Given the description of an element on the screen output the (x, y) to click on. 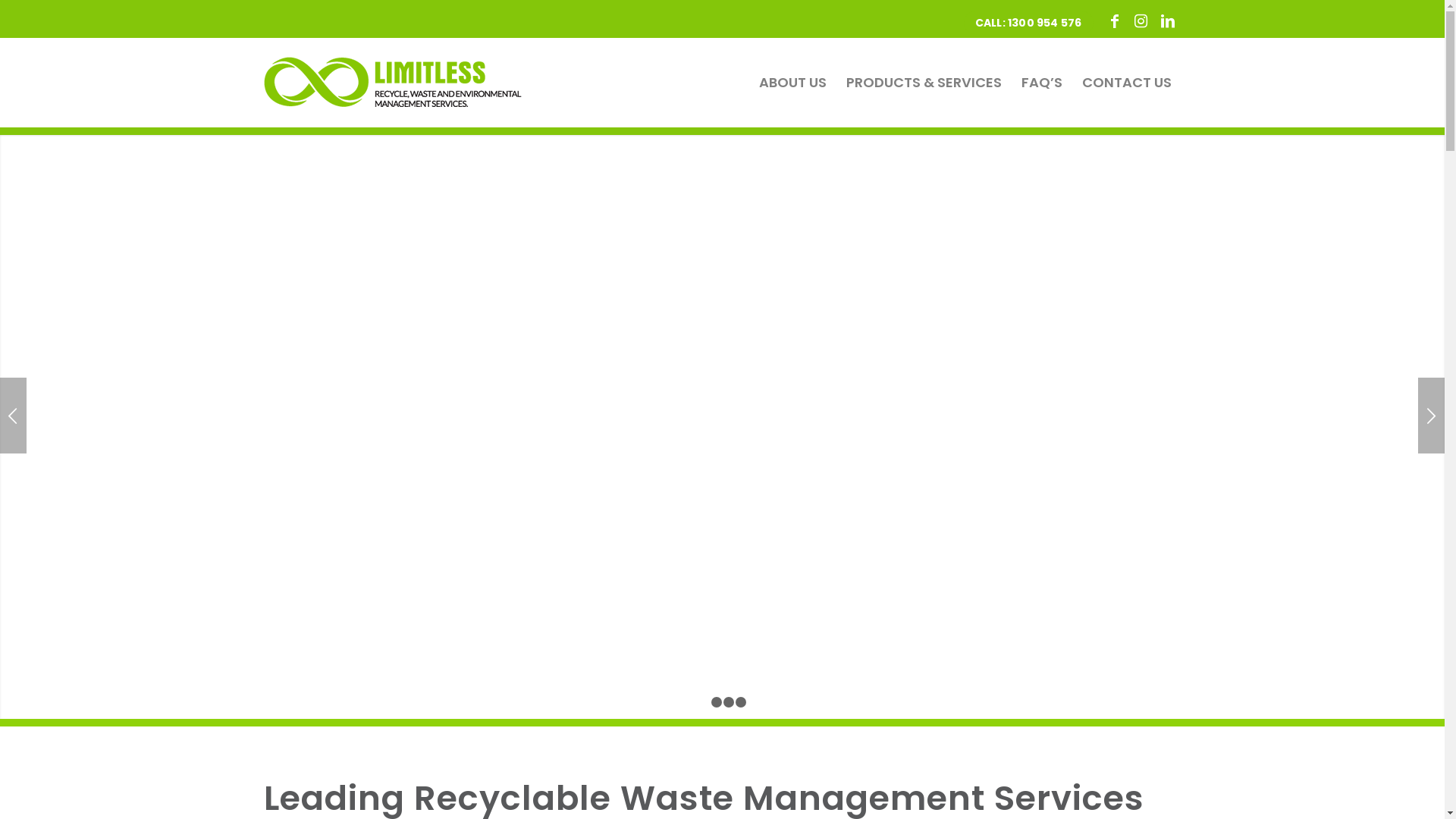
CALL: 1300 954 576 Element type: text (1028, 22)
Logo-Enfold-Header-2 Element type: hover (392, 75)
Instagram Element type: hover (1141, 19)
3 Element type: text (728, 701)
CONTACT US Element type: text (1126, 82)
4 Element type: text (740, 701)
1 Element type: text (704, 701)
Previous Element type: text (13, 415)
Facebook Element type: hover (1113, 19)
LinkedIn Element type: hover (1167, 19)
Next Element type: text (1431, 415)
PRODUCTS & SERVICES Element type: text (922, 82)
ABOUT US Element type: text (792, 82)
2 Element type: text (716, 701)
